Given the description of an element on the screen output the (x, y) to click on. 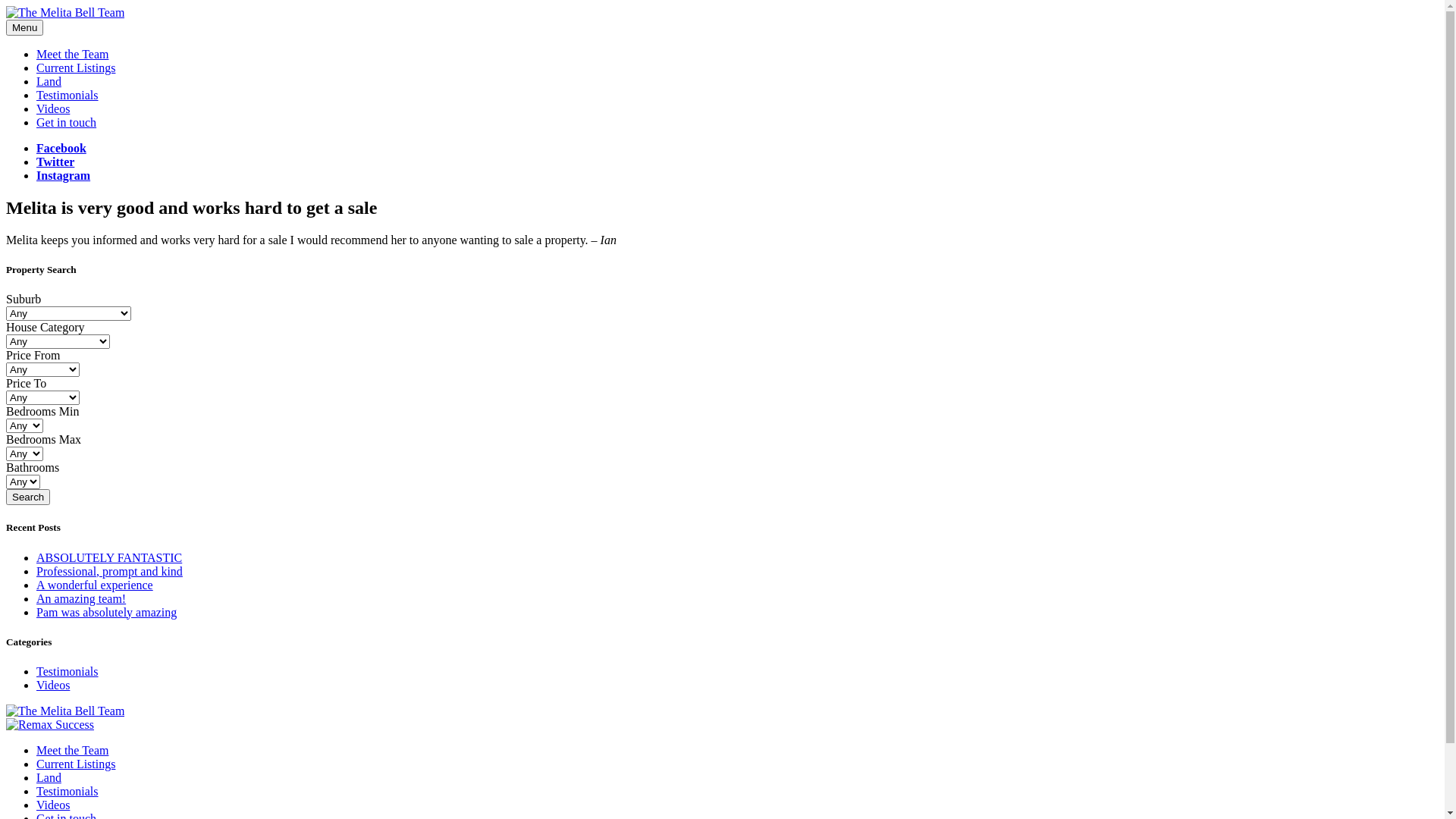
Testimonials Element type: text (67, 94)
Pam was absolutely amazing Element type: text (106, 611)
Meet the Team Element type: text (72, 749)
Videos Element type: text (52, 684)
Land Element type: text (48, 81)
Facebook Element type: text (61, 147)
Testimonials Element type: text (67, 790)
ABSOLUTELY FANTASTIC Element type: text (109, 556)
Twitter Element type: text (55, 161)
Videos Element type: text (52, 804)
Current Listings Element type: text (75, 67)
Land Element type: text (48, 777)
Search Element type: text (28, 497)
A wonderful experience Element type: text (94, 583)
Menu Element type: text (24, 27)
Get in touch Element type: text (66, 122)
Meet the Team Element type: text (72, 53)
Instagram Element type: text (63, 175)
An amazing team! Element type: text (80, 597)
Videos Element type: text (52, 108)
Current Listings Element type: text (75, 763)
Professional, prompt and kind Element type: text (109, 570)
Testimonials Element type: text (67, 671)
